Given the description of an element on the screen output the (x, y) to click on. 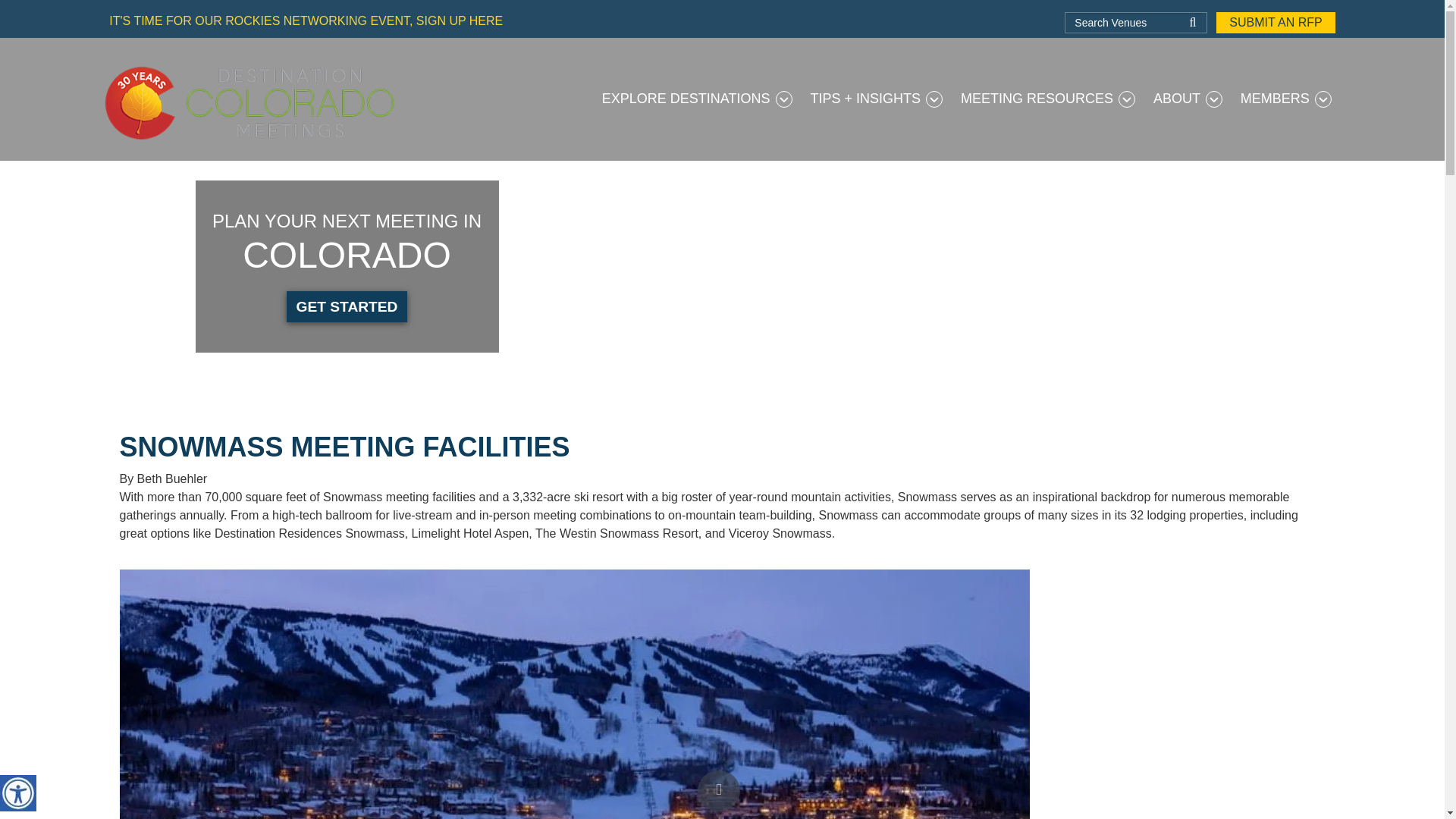
MEETING RESOURCES (1048, 99)
MEETING RESOURCES (1048, 99)
MEMBERS (1285, 99)
Start RFP (806, 631)
EXPLORE DESTINATIONS (697, 99)
GET STARTED (346, 306)
HERE (485, 20)
SUBMIT AN RFP (1275, 22)
Get Started (384, 631)
ABOUT (1187, 99)
EXPLORE DESTINATIONS (697, 99)
